Given the description of an element on the screen output the (x, y) to click on. 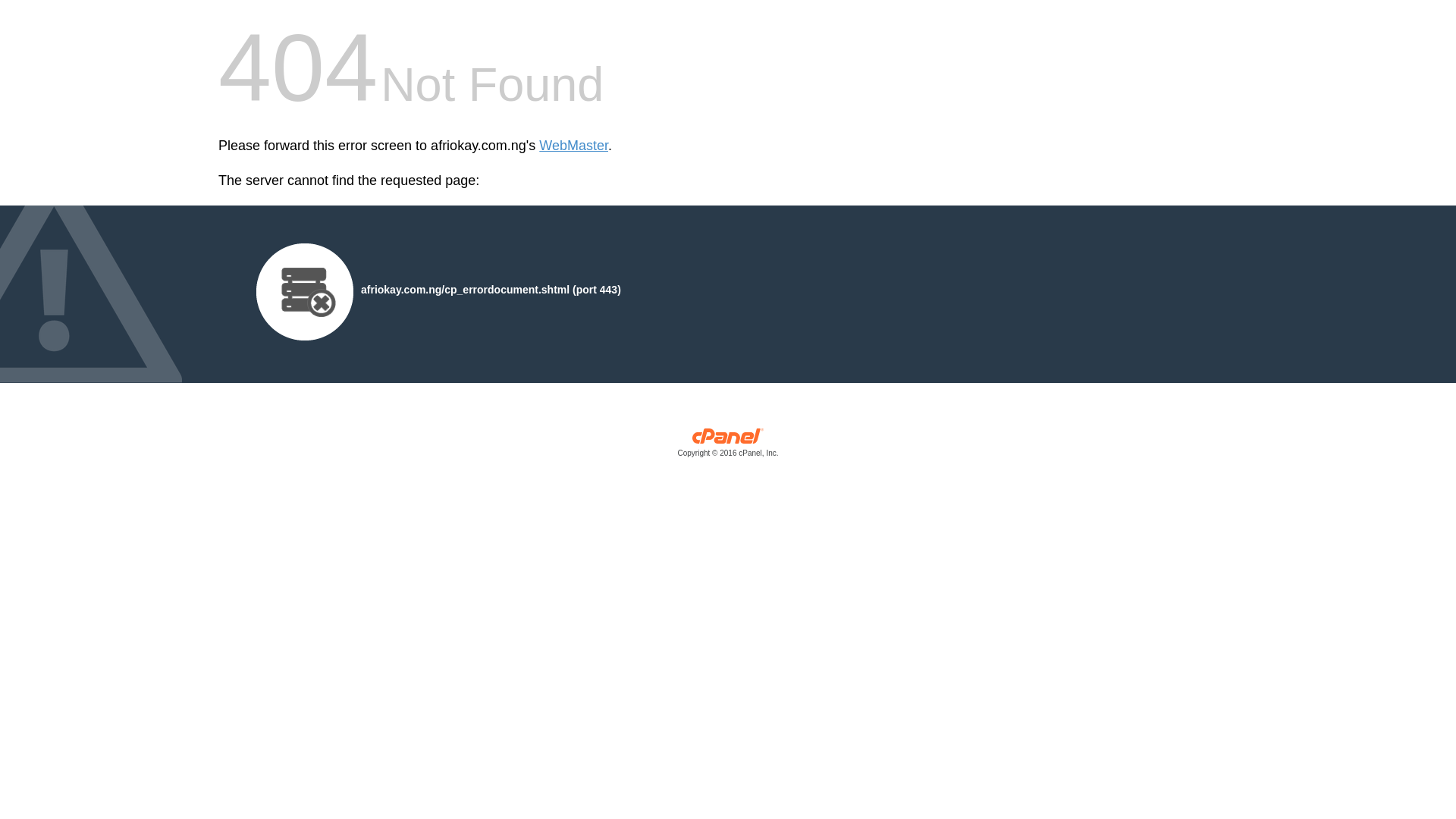
WebMaster (573, 145)
cPanel, Inc. (727, 446)
